Given the description of an element on the screen output the (x, y) to click on. 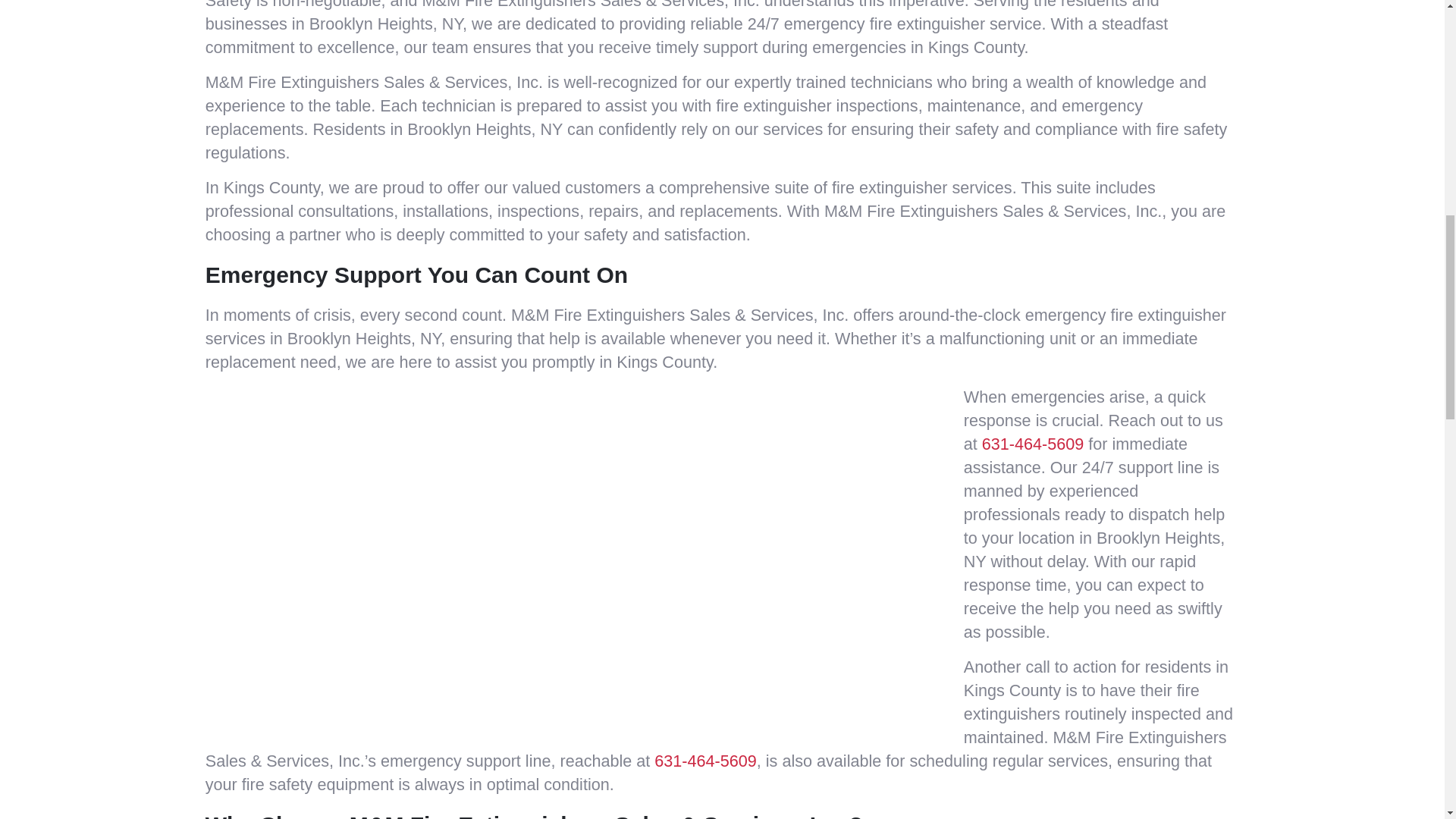
631-464-5609 (1032, 443)
631-464-5609 (704, 760)
